Given the description of an element on the screen output the (x, y) to click on. 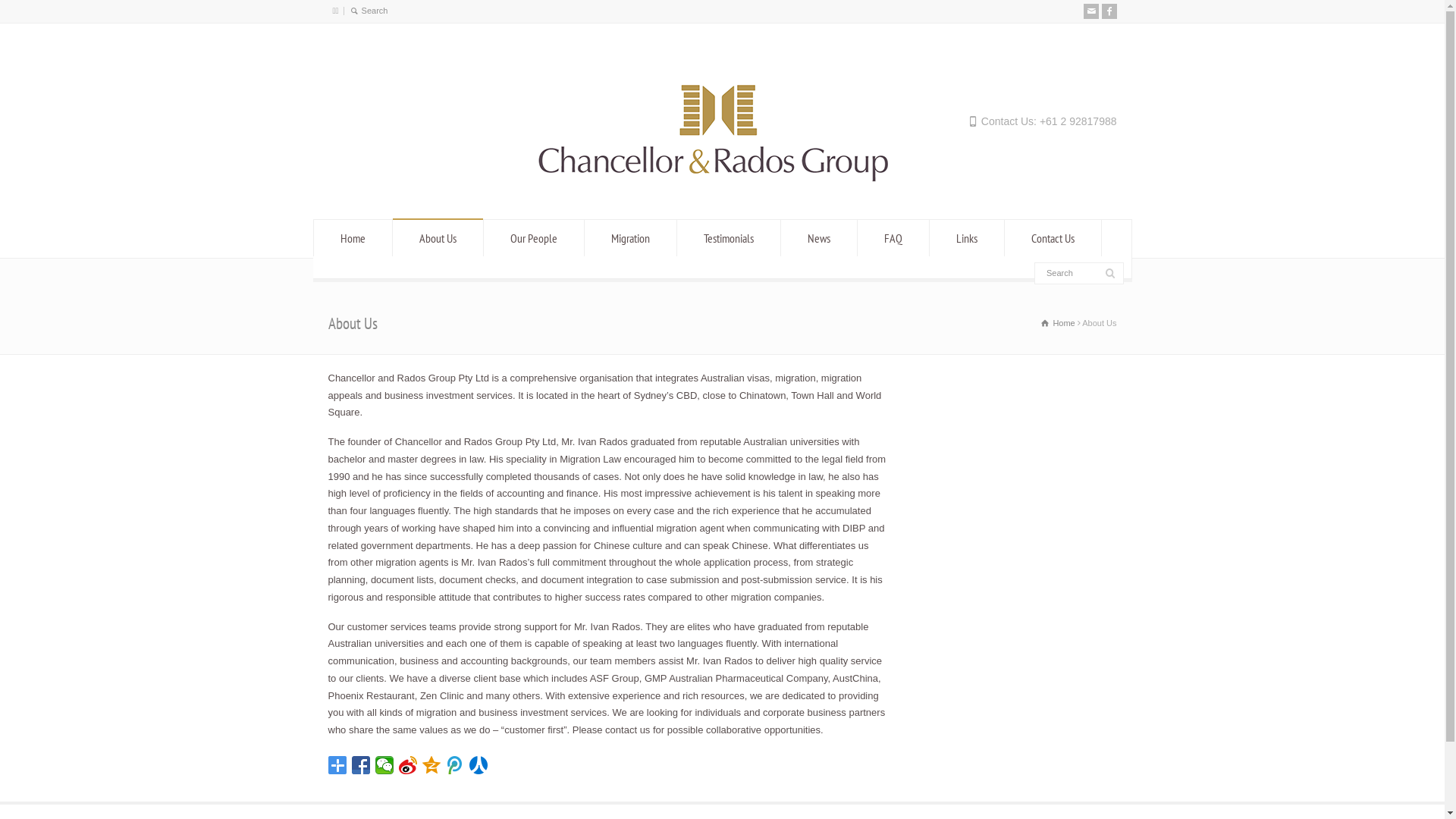
Contact Us Element type: text (1052, 237)
Testimonials Element type: text (728, 237)
Chancellor & Rados Group Element type: hover (721, 190)
Home Element type: text (1057, 322)
Home Element type: text (352, 237)
About Us Element type: text (437, 237)
Email Element type: hover (1090, 10)
Facebook Element type: hover (1108, 10)
FAQ Element type: text (892, 237)
Links Element type: text (966, 237)
Migration Element type: text (630, 237)
News Element type: text (818, 237)
Our People Element type: text (533, 237)
